Given the description of an element on the screen output the (x, y) to click on. 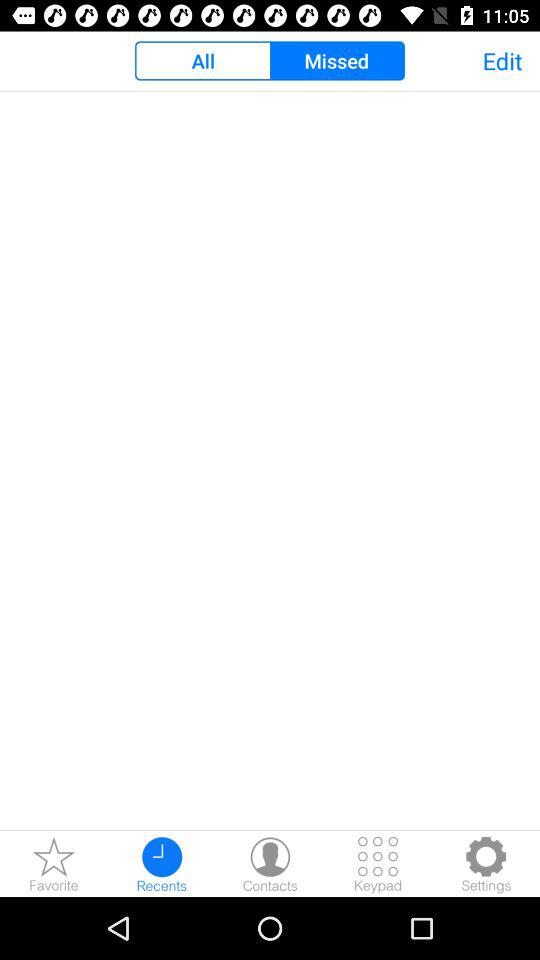
show keypad (377, 864)
